Given the description of an element on the screen output the (x, y) to click on. 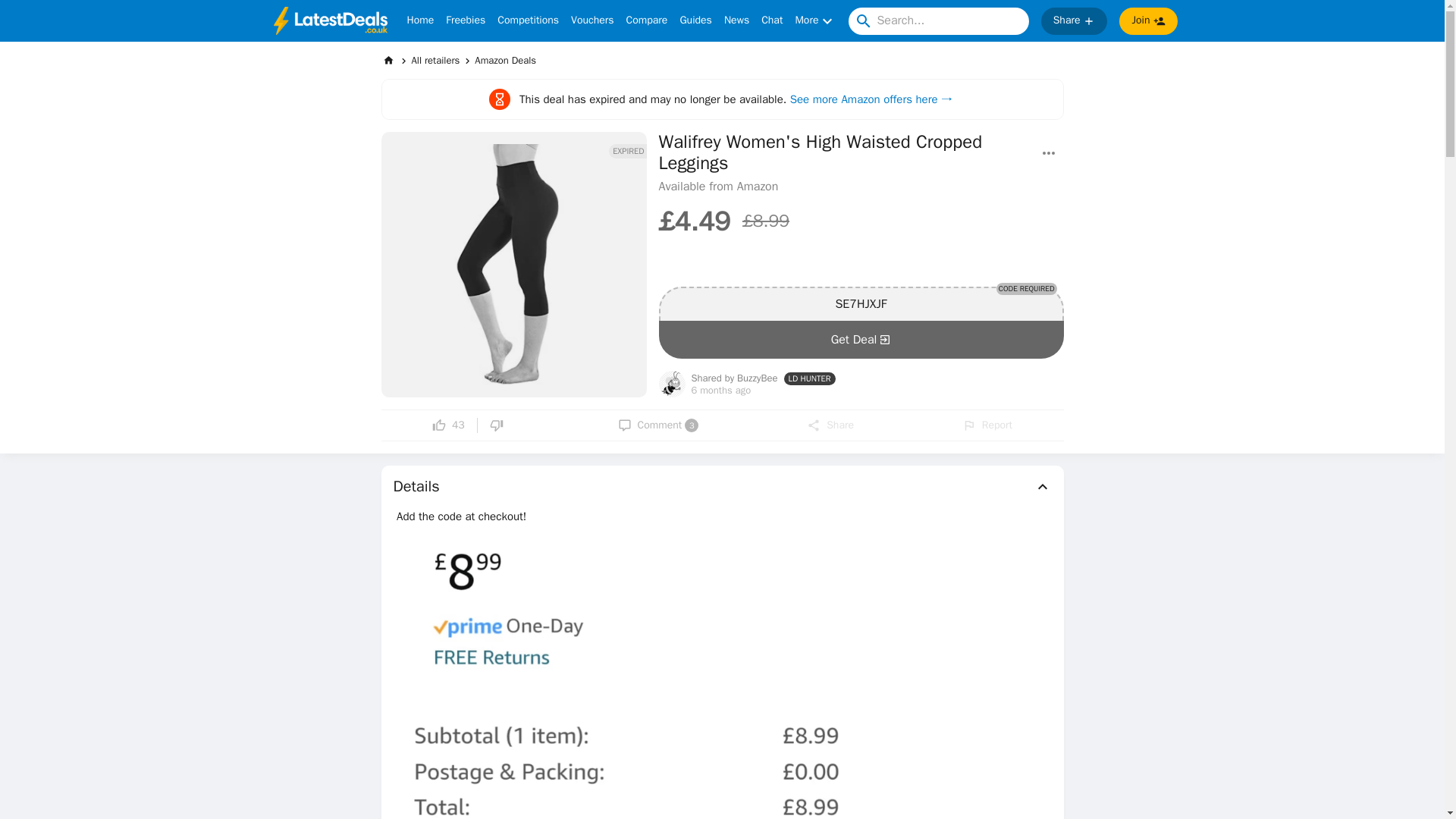
Report (986, 425)
Shared by BuzzyBee (734, 378)
Competitions (528, 21)
43 (448, 425)
Join (657, 425)
Get Deal (1147, 21)
Vouchers (860, 339)
News (591, 21)
Amazon Deals (736, 21)
